Given the description of an element on the screen output the (x, y) to click on. 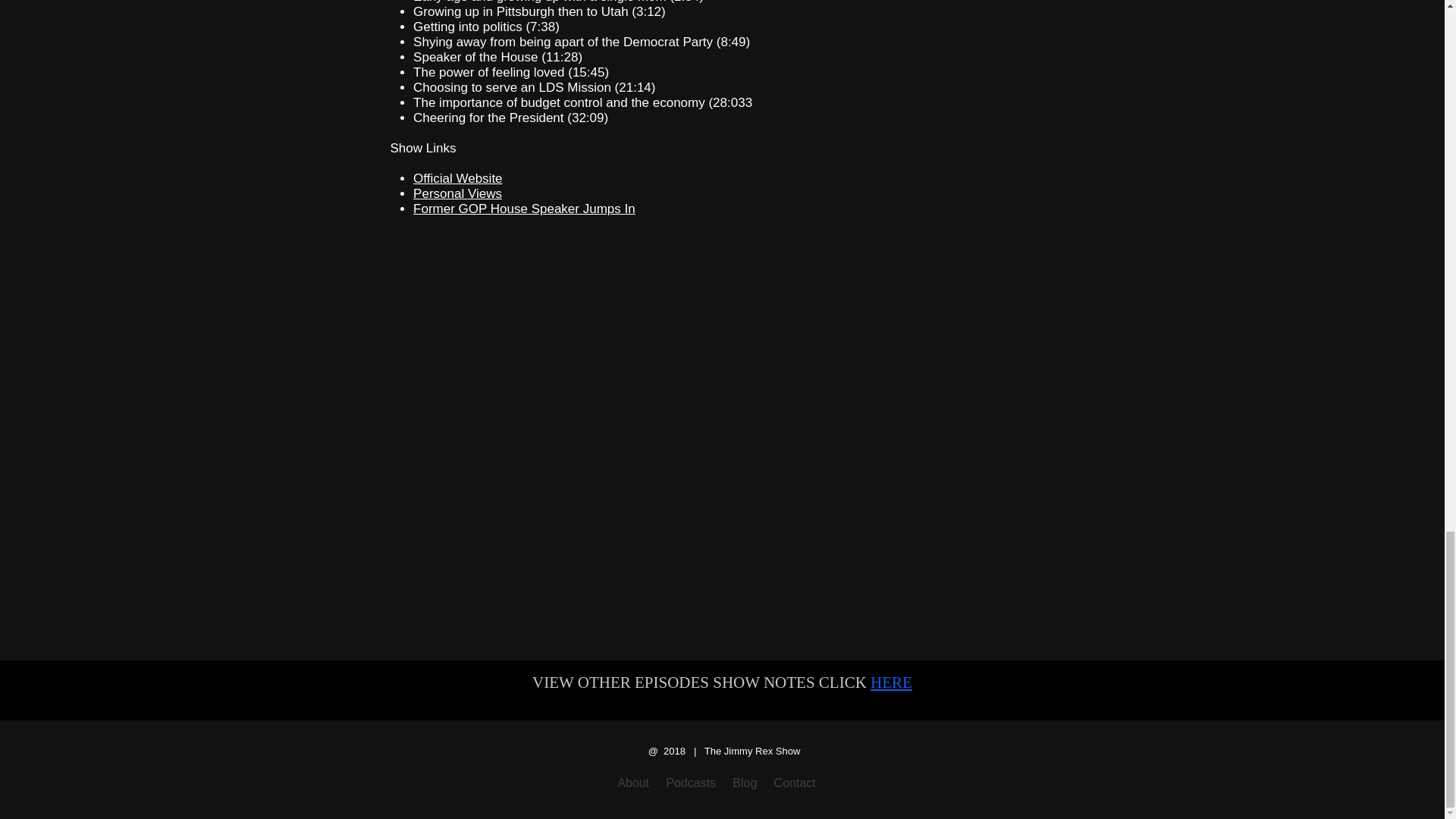
Podcasts (689, 782)
Personal Views (457, 193)
Official Website (457, 178)
Blog (746, 782)
Contact (794, 782)
About (633, 782)
Former GOP House Speaker Jumps In (523, 208)
HERE (891, 682)
